Given the description of an element on the screen output the (x, y) to click on. 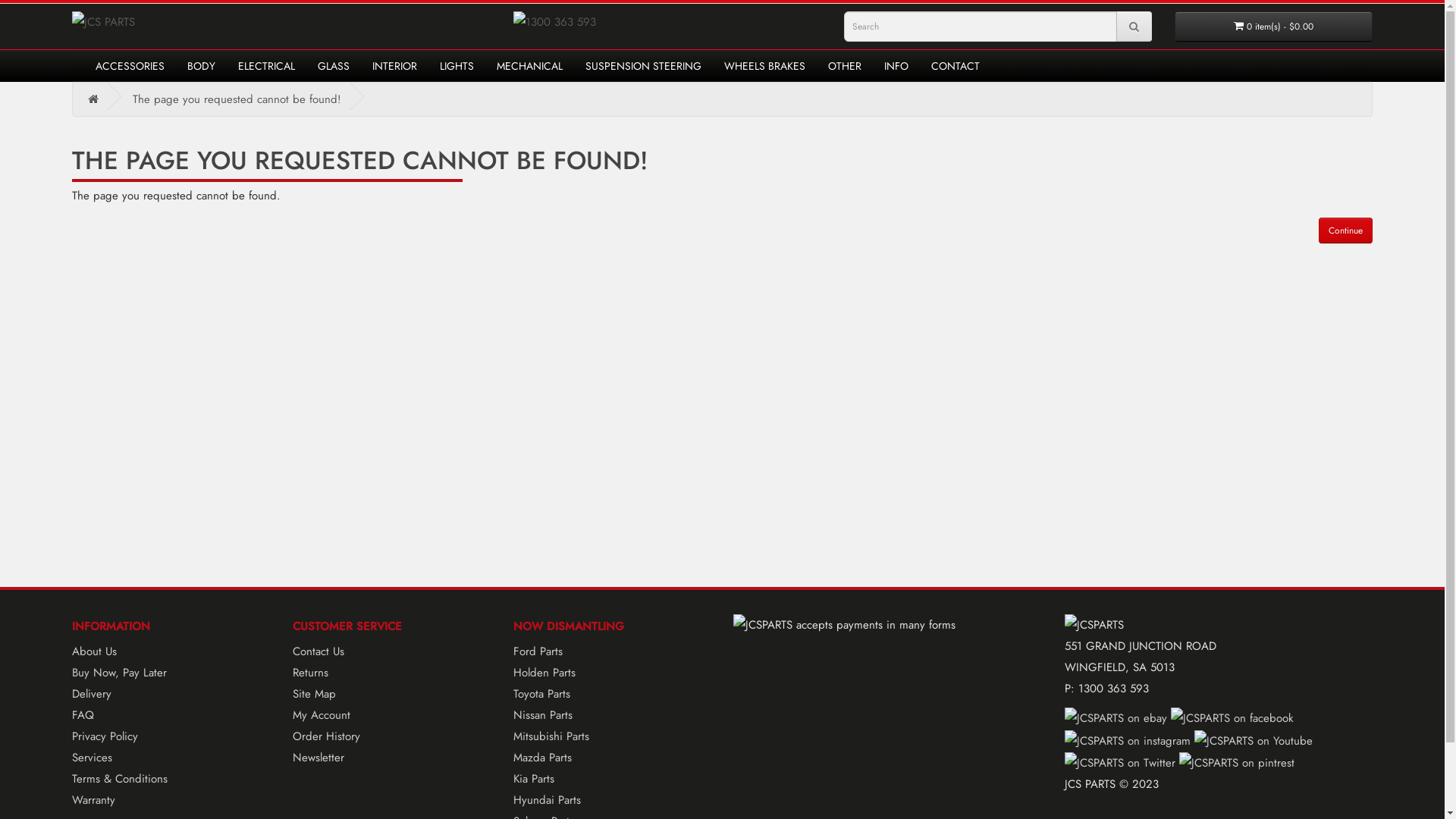
FAQ Element type: text (83, 714)
LIGHTS Element type: text (456, 65)
Kia Parts Element type: text (533, 778)
Contact Us Element type: text (318, 651)
ELECTRICAL Element type: text (266, 65)
Returns Element type: text (310, 672)
Ford Parts Element type: text (537, 651)
Continue Element type: text (1345, 230)
My Account Element type: text (321, 714)
Toyota Parts Element type: text (541, 693)
Mazda Parts Element type: text (542, 757)
Nissan Parts Element type: text (542, 714)
INTERIOR Element type: text (394, 65)
Hyundai Parts Element type: text (546, 799)
Buy Now, Pay Later Element type: text (119, 672)
MECHANICAL Element type: text (529, 65)
Delivery Element type: text (91, 693)
INFO Element type: text (895, 65)
Terms & Conditions Element type: text (119, 778)
OTHER Element type: text (844, 65)
Mitsubishi Parts Element type: text (551, 736)
Order History Element type: text (326, 736)
Privacy Policy Element type: text (105, 736)
Newsletter Element type: text (318, 757)
CONTACT Element type: text (955, 65)
ACCESSORIES Element type: text (129, 65)
SUSPENSION STEERING Element type: text (643, 65)
Warranty Element type: text (93, 799)
Holden Parts Element type: text (544, 672)
GLASS Element type: text (333, 65)
BODY Element type: text (200, 65)
About Us Element type: text (94, 651)
Services Element type: text (92, 757)
Site Map Element type: text (313, 693)
The page you requested cannot be found! Element type: text (236, 99)
0 item(s) - $0.00 Element type: text (1273, 26)
JCS PARTS Element type: hover (185, 21)
WHEELS BRAKES Element type: text (764, 65)
